Given the description of an element on the screen output the (x, y) to click on. 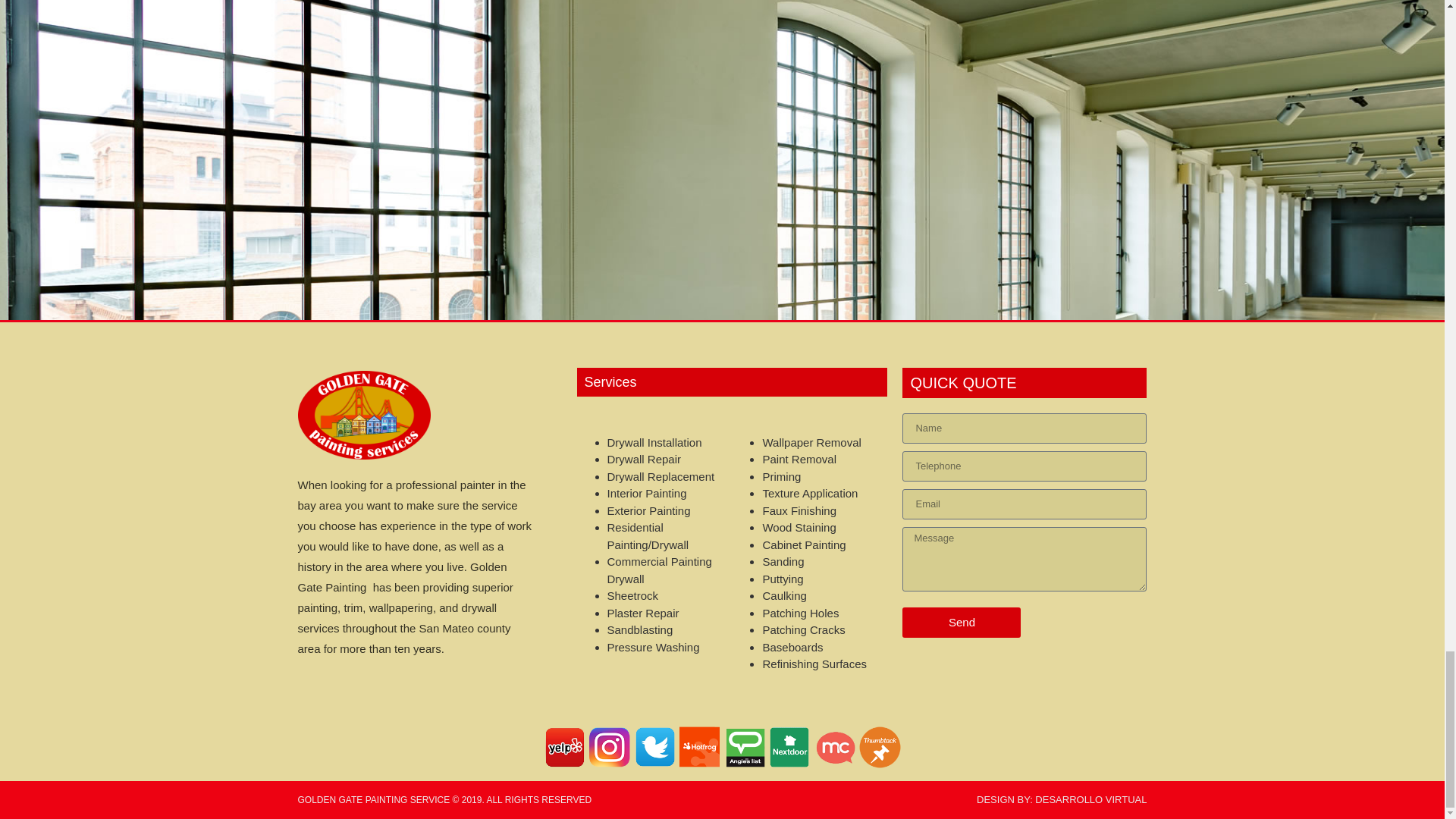
DESIGN BY: DESARROLLO VIRTUAL (1061, 799)
Send (961, 622)
